Given the description of an element on the screen output the (x, y) to click on. 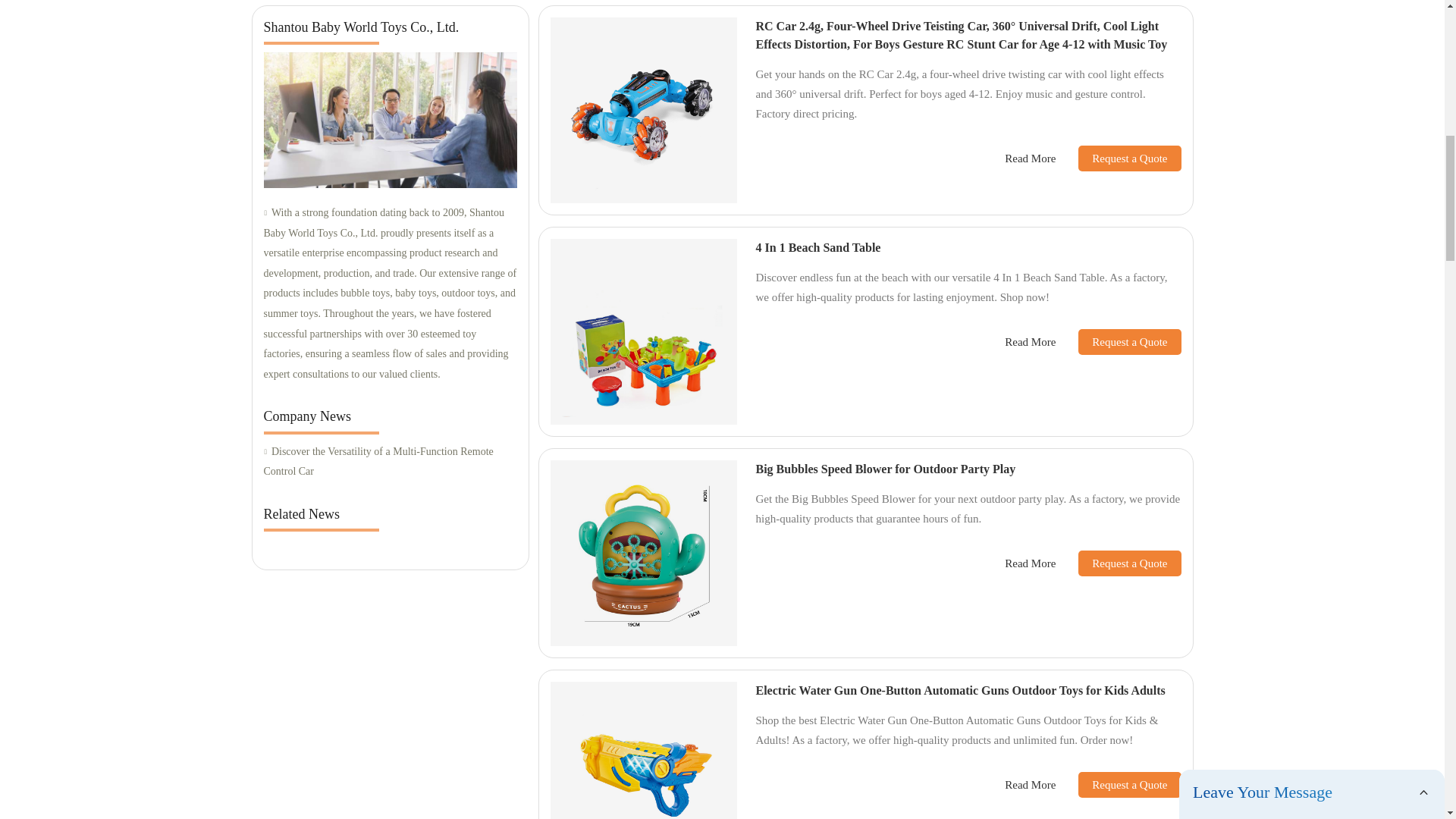
Request a Quote (1117, 158)
Read More (1029, 784)
4 In 1 Beach Sand Table (817, 246)
Big Bubbles Speed Blower for Outdoor Party Play (884, 468)
Read More (1029, 158)
Request a Quote (1117, 563)
Request a Quote (1117, 784)
